Given the description of an element on the screen output the (x, y) to click on. 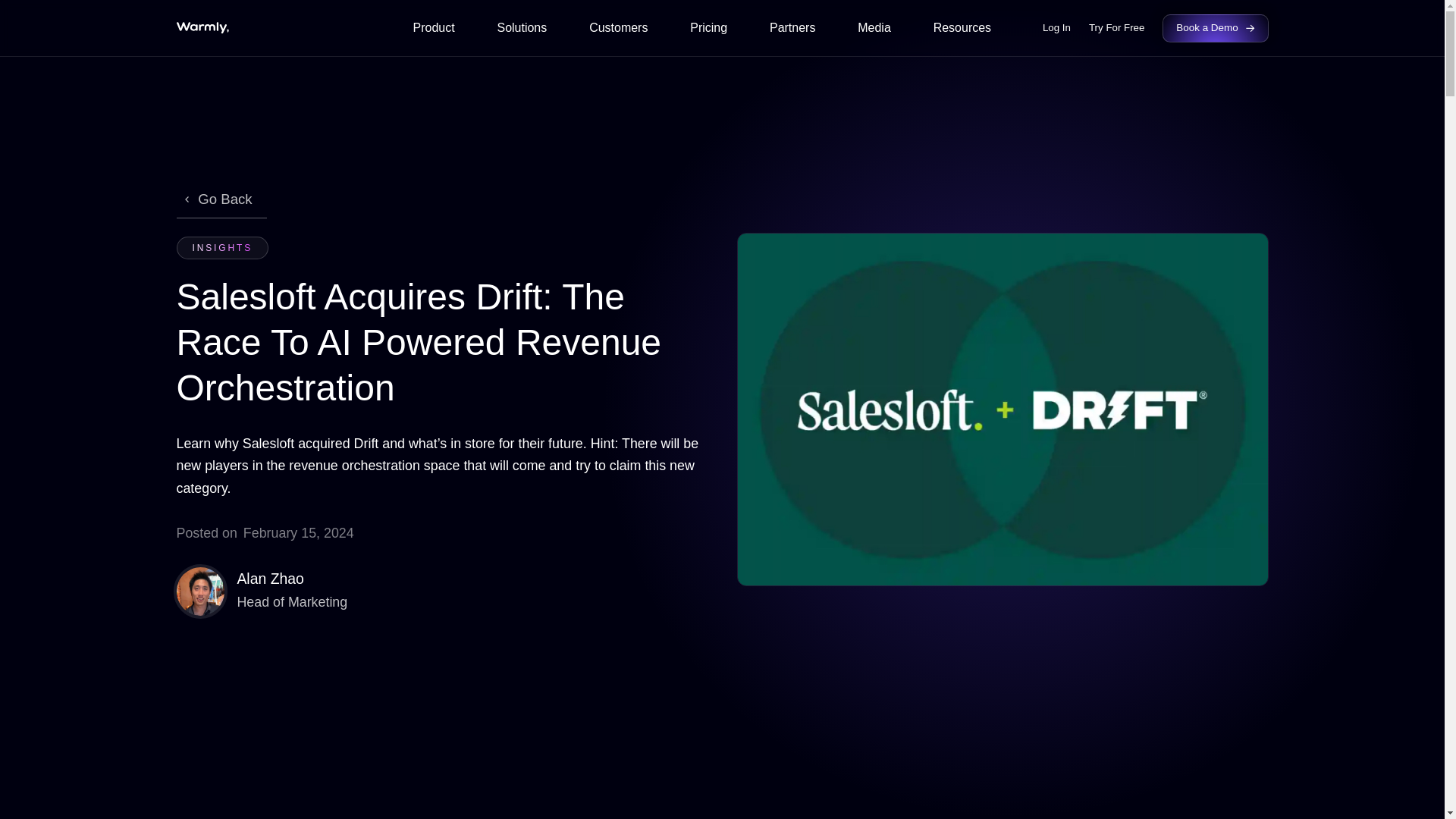
Pricing (708, 30)
